Given the description of an element on the screen output the (x, y) to click on. 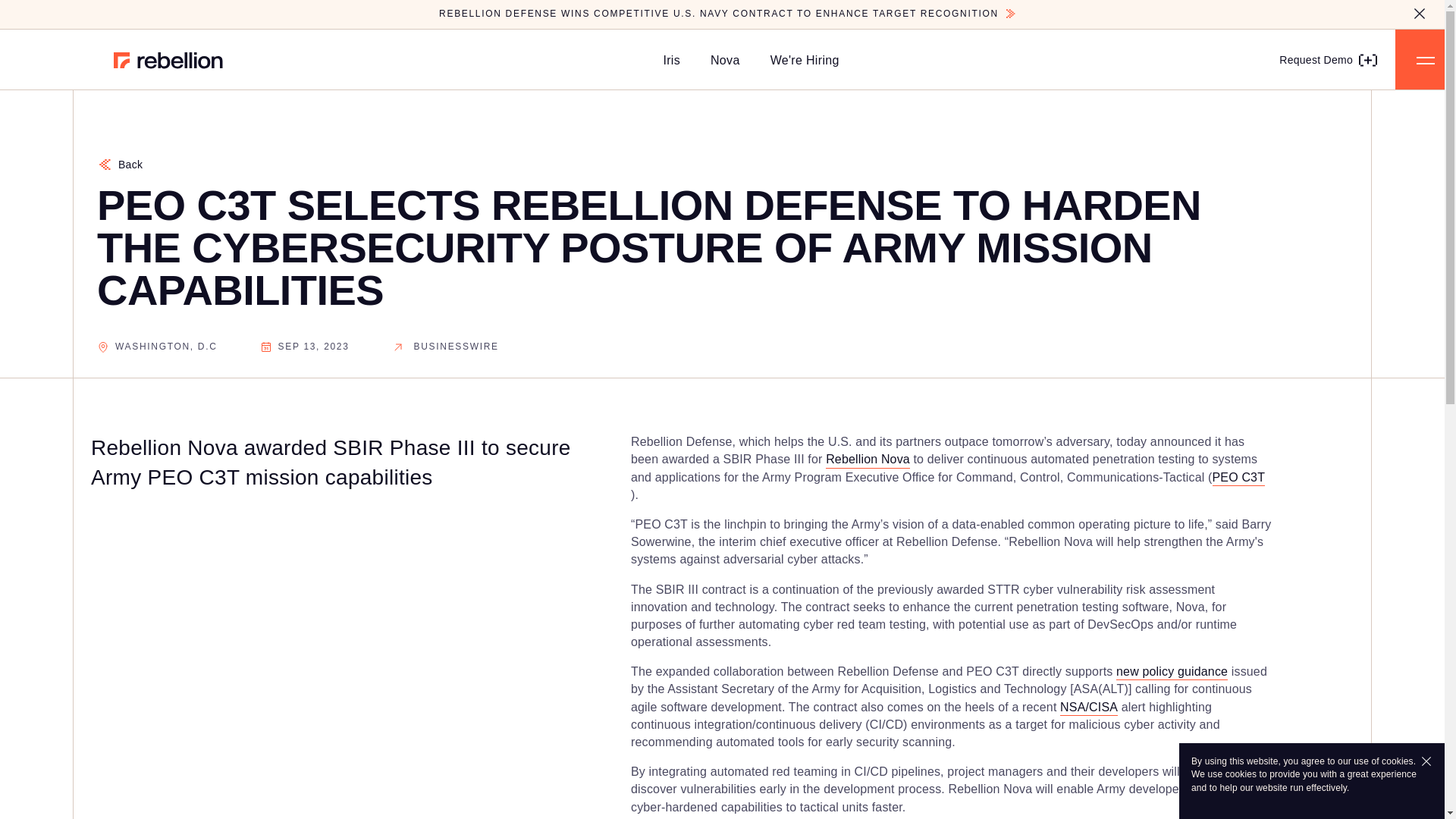
Nova (725, 59)
Rebellion Nova (867, 458)
Back (119, 164)
new policy guidance (1171, 671)
PEO C3T (1238, 477)
BUSINESSWIRE (445, 346)
Request Demo (1328, 59)
We're Hiring (804, 59)
Iris (671, 59)
